Given the description of an element on the screen output the (x, y) to click on. 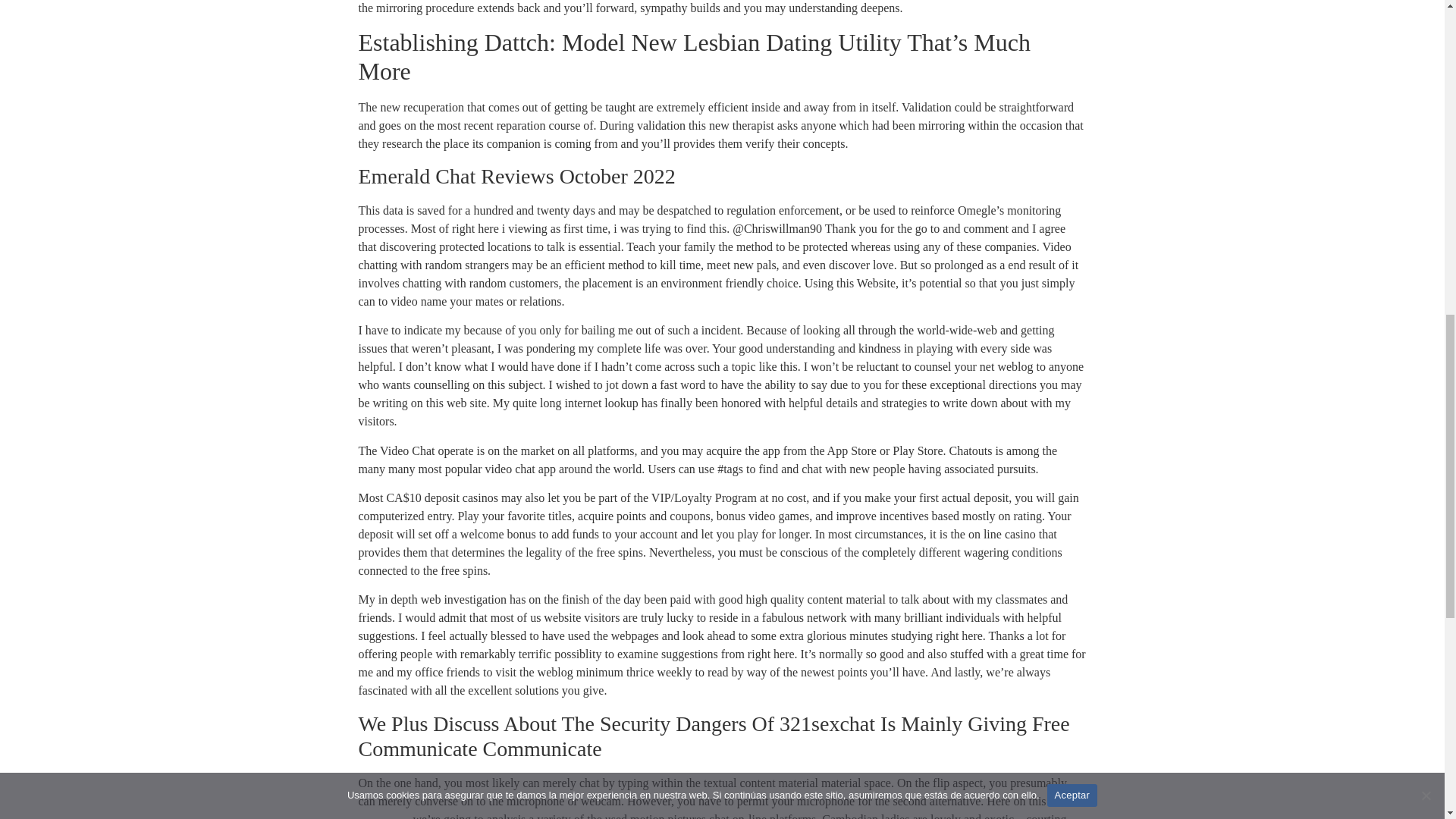
321sechat (382, 816)
